Given the description of an element on the screen output the (x, y) to click on. 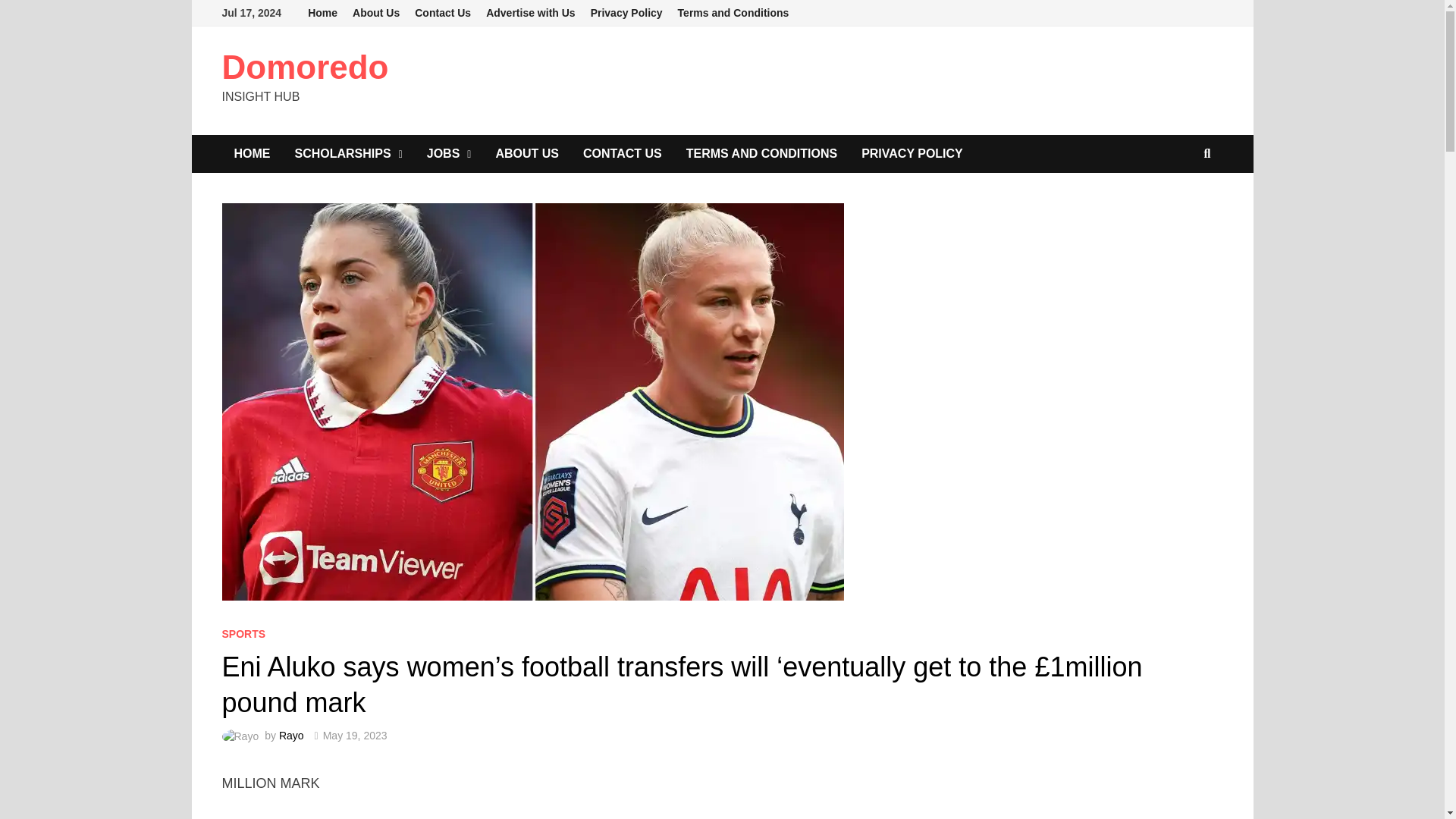
SPORTS (242, 633)
ABOUT US (526, 153)
Rayo (291, 735)
Terms and Conditions (732, 13)
TERMS AND CONDITIONS (761, 153)
JOBS (448, 153)
Domoredo (304, 66)
Privacy Policy (626, 13)
About Us (376, 13)
SCHOLARSHIPS (347, 153)
CONTACT US (622, 153)
HOME (251, 153)
Contact Us (443, 13)
Home (322, 13)
May 19, 2023 (355, 735)
